Given the description of an element on the screen output the (x, y) to click on. 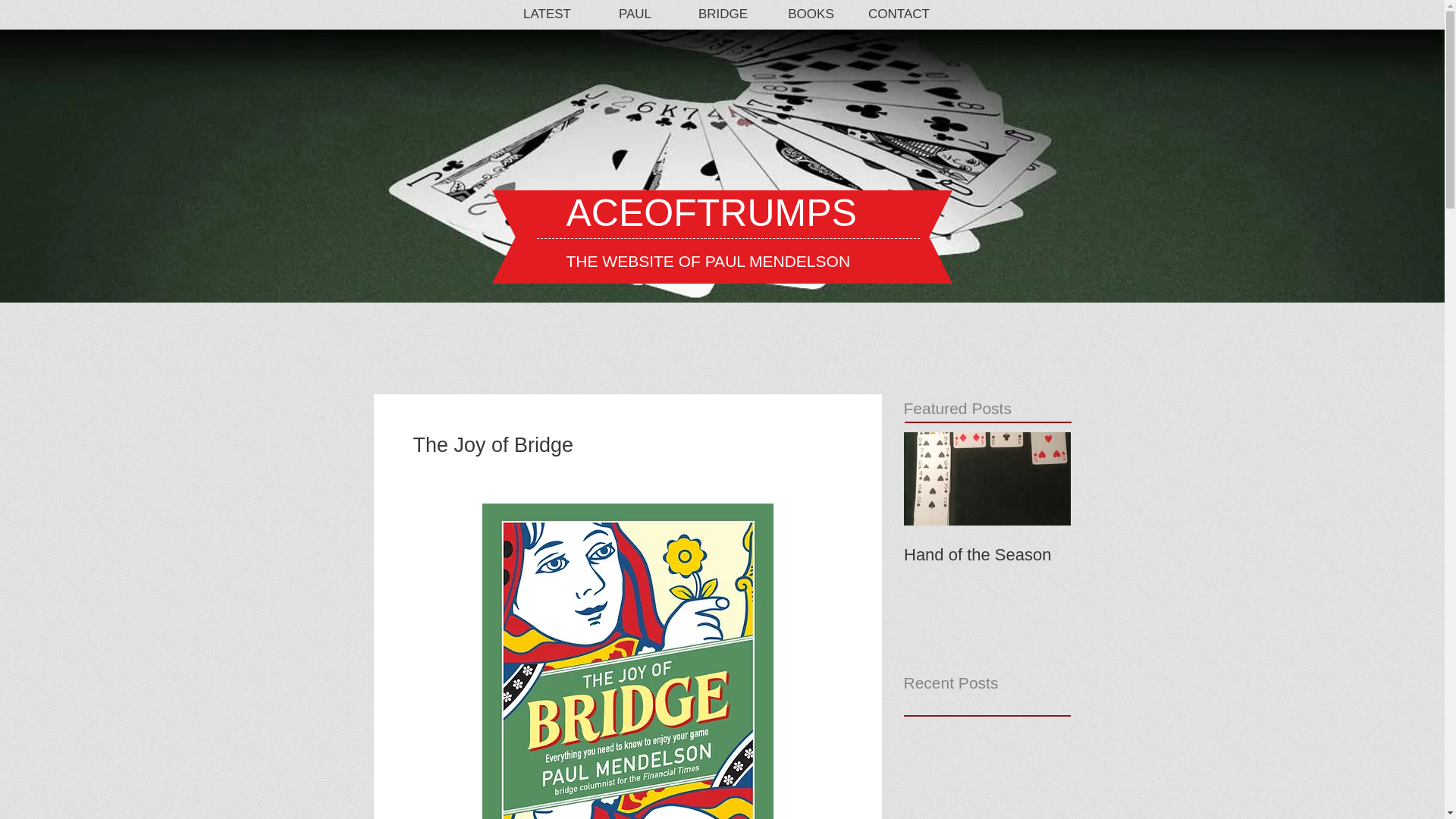
BOOKS (811, 14)
BRIDGE (723, 14)
LATEST (547, 14)
CONTACT (899, 14)
Hand of the Season (987, 555)
PAUL (635, 14)
